Given the description of an element on the screen output the (x, y) to click on. 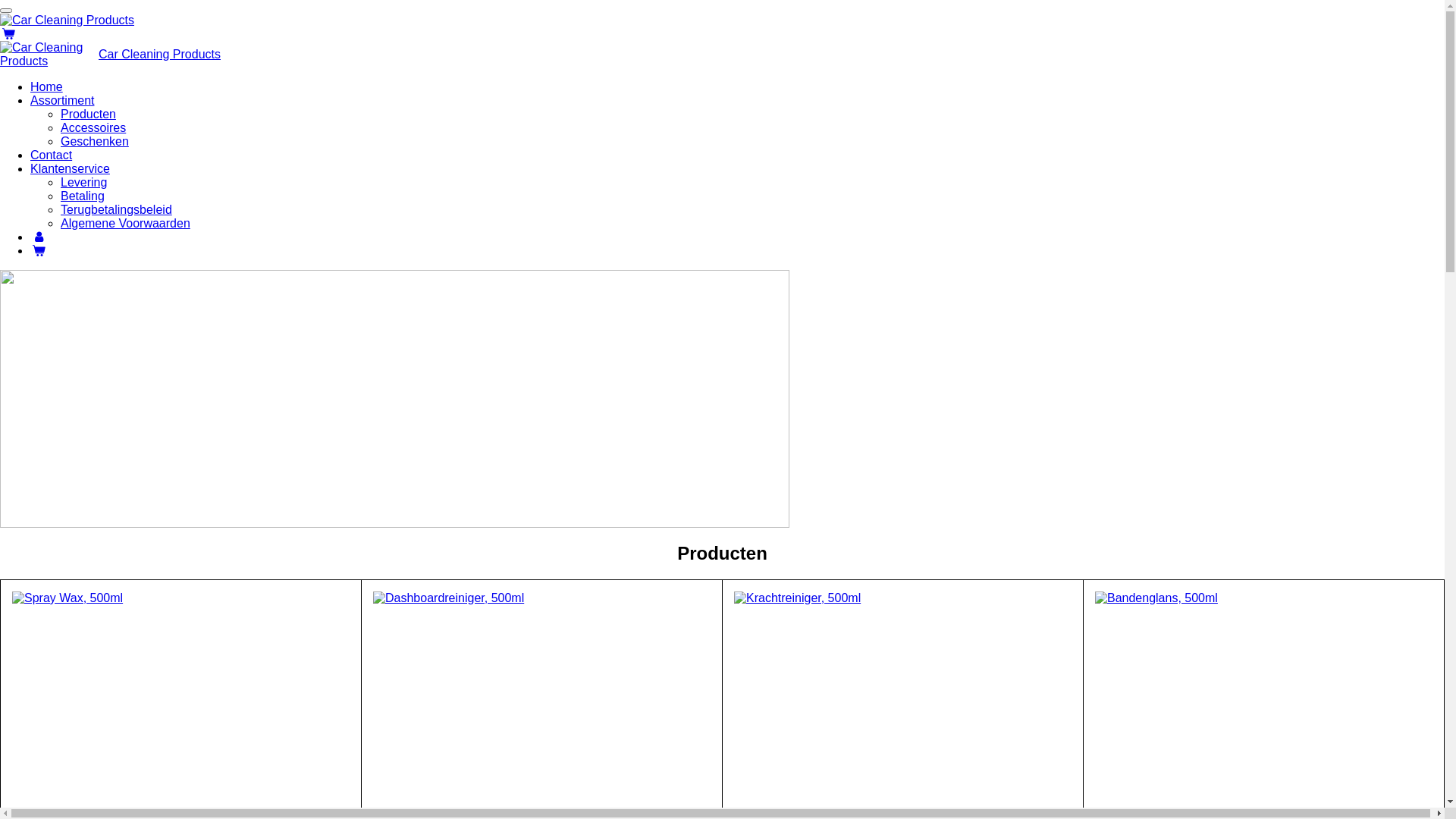
Levering Element type: text (83, 181)
Klantenservice Element type: text (69, 168)
Account Element type: hover (38, 236)
Producten Element type: text (88, 113)
Home Element type: text (46, 86)
Terugbetalingsbeleid Element type: text (116, 209)
Car Cleaning Products Element type: hover (67, 20)
Algemene Voorwaarden Element type: text (125, 222)
Geschenken Element type: text (94, 140)
Contact Element type: text (51, 154)
Car Cleaning Products Element type: text (159, 53)
Car Cleaning Products Element type: hover (49, 54)
Assortiment Element type: text (62, 100)
Accessoires Element type: text (92, 127)
Winkelwagen Element type: hover (38, 250)
Betaling Element type: text (82, 195)
